Given the description of an element on the screen output the (x, y) to click on. 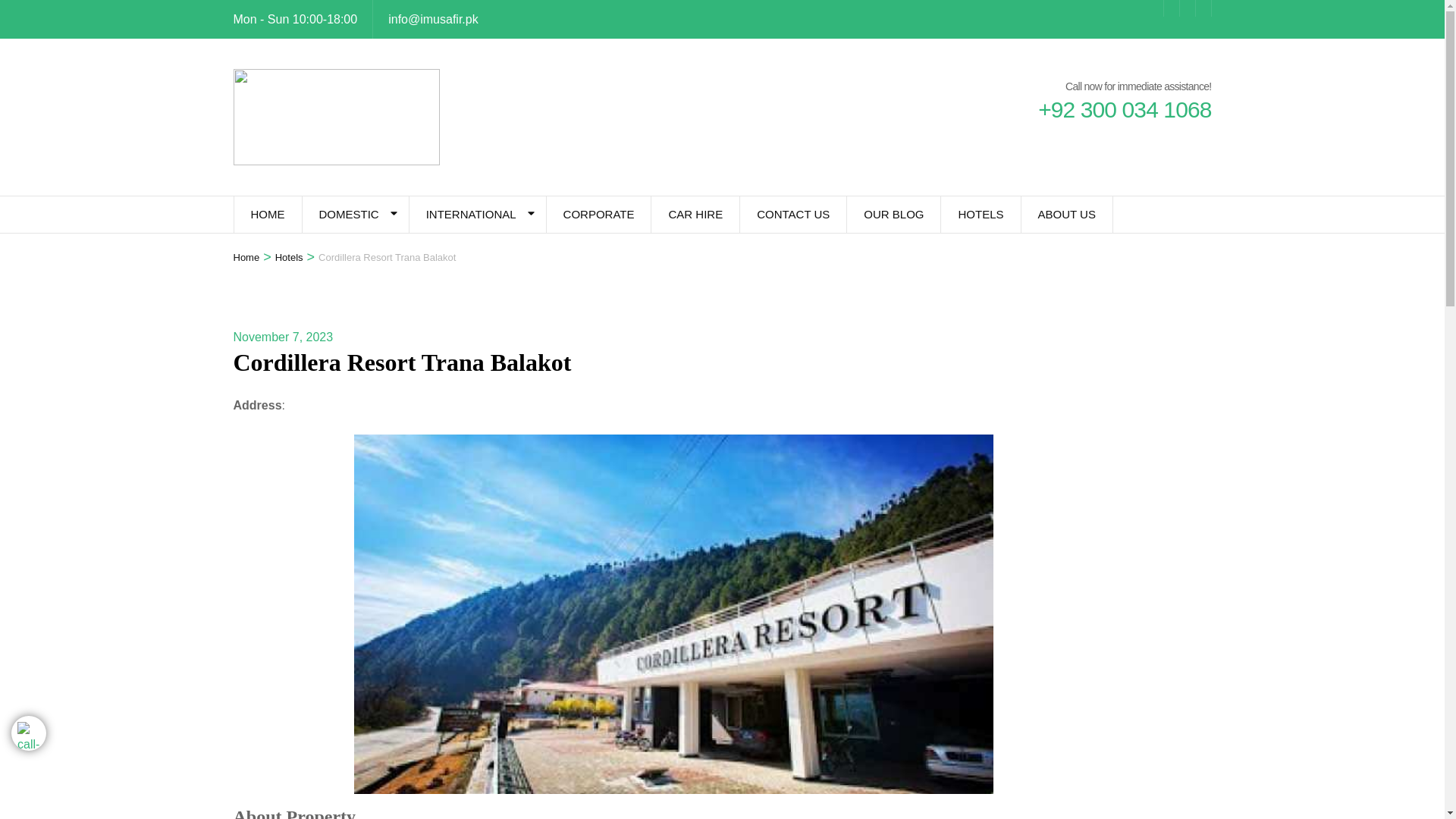
CORPORATE (598, 214)
HOME (266, 214)
INTERNATIONAL (470, 214)
ABOUT US (1066, 214)
CONTACT US (792, 214)
CAR HIRE (694, 214)
HOTELS (980, 214)
OUR BLOG (893, 214)
DOMESTIC (347, 214)
